Given the description of an element on the screen output the (x, y) to click on. 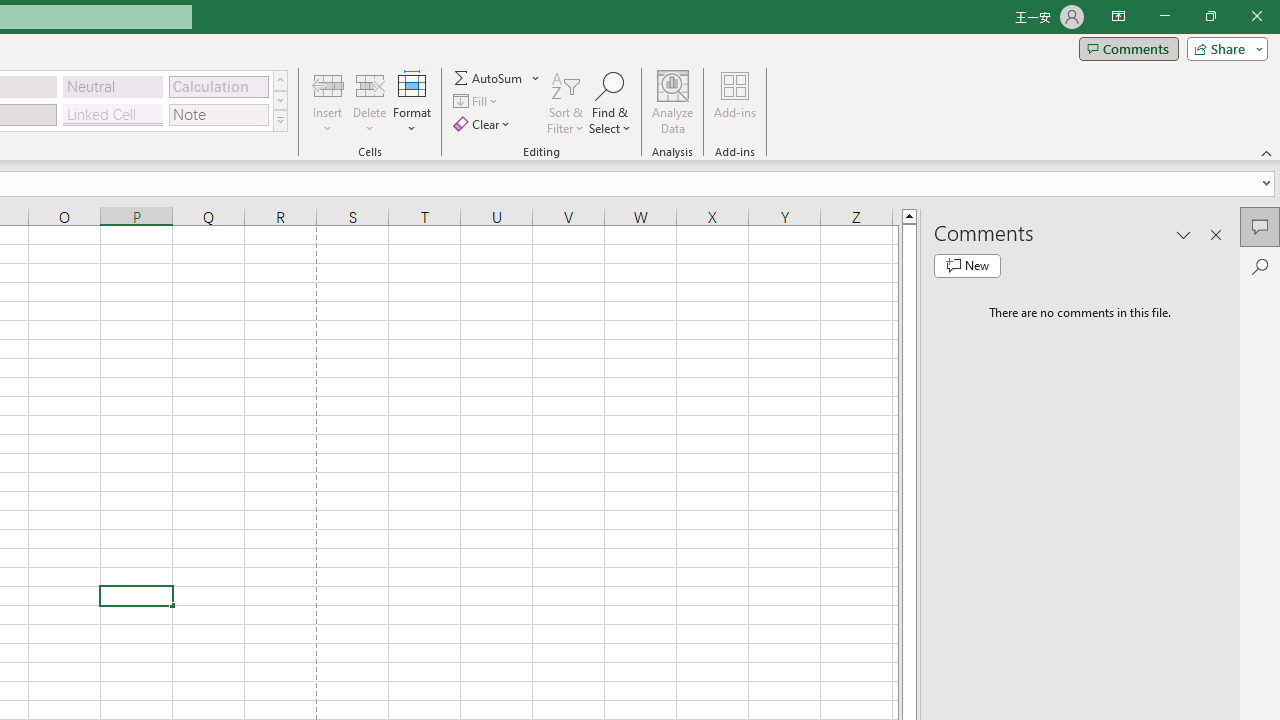
Note (218, 114)
Format (411, 102)
Sort & Filter (566, 102)
Sum (489, 78)
Restore Down (1210, 16)
